Given the description of an element on the screen output the (x, y) to click on. 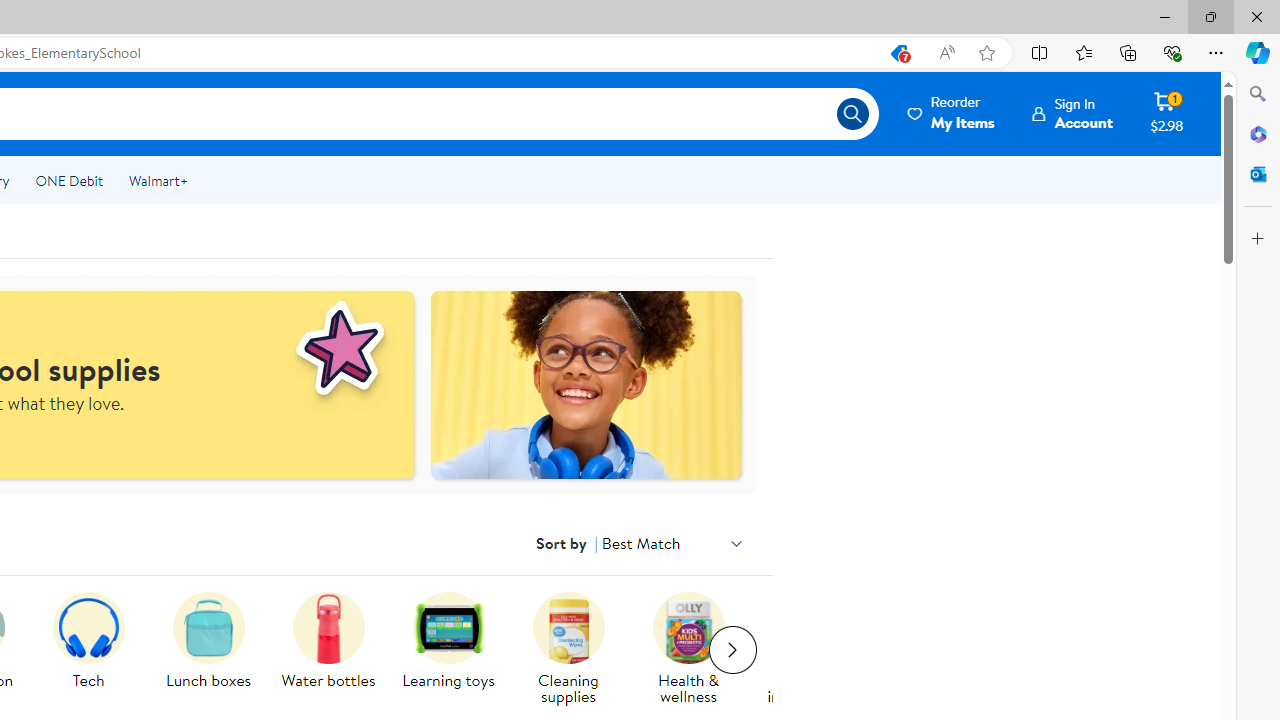
Search icon (852, 113)
Lunch boxes Lunch boxes (208, 641)
A musical instrument is on display. Musical instruments (808, 650)
Cleaning supplies (576, 650)
Class: ld ld-ChevronDown pa0 ml6 (736, 543)
Sort by Best Match (672, 543)
Learning toys (456, 650)
This site has coupons! Shopping in Microsoft Edge, 7 (898, 53)
A blue headset is on display. Tech (87, 641)
Next slide for chipModuleWithImages list (731, 650)
Cleaning supplies (568, 628)
